Given the description of an element on the screen output the (x, y) to click on. 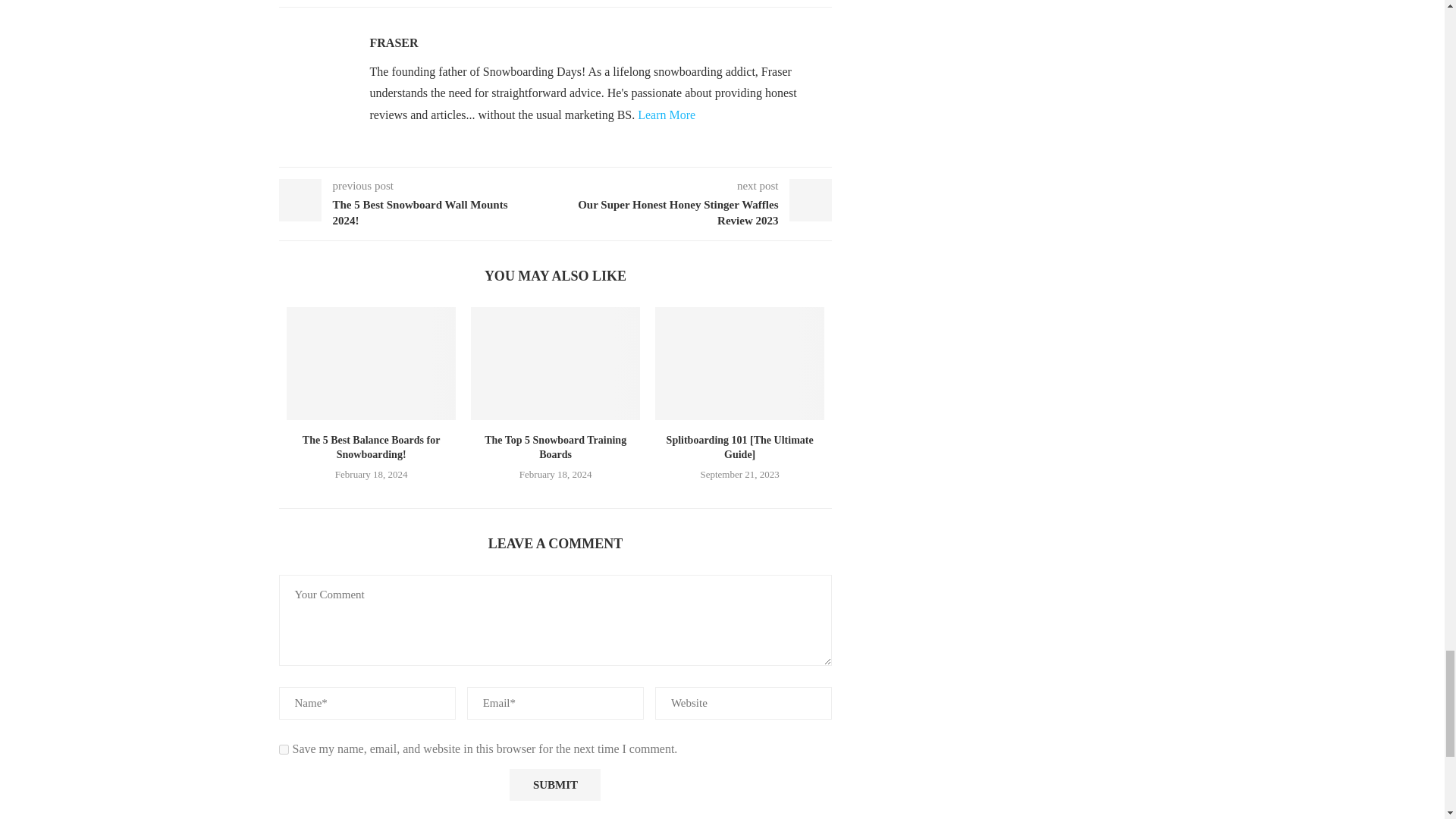
yes (283, 749)
Submit (554, 784)
Author Fraser (394, 42)
